Given the description of an element on the screen output the (x, y) to click on. 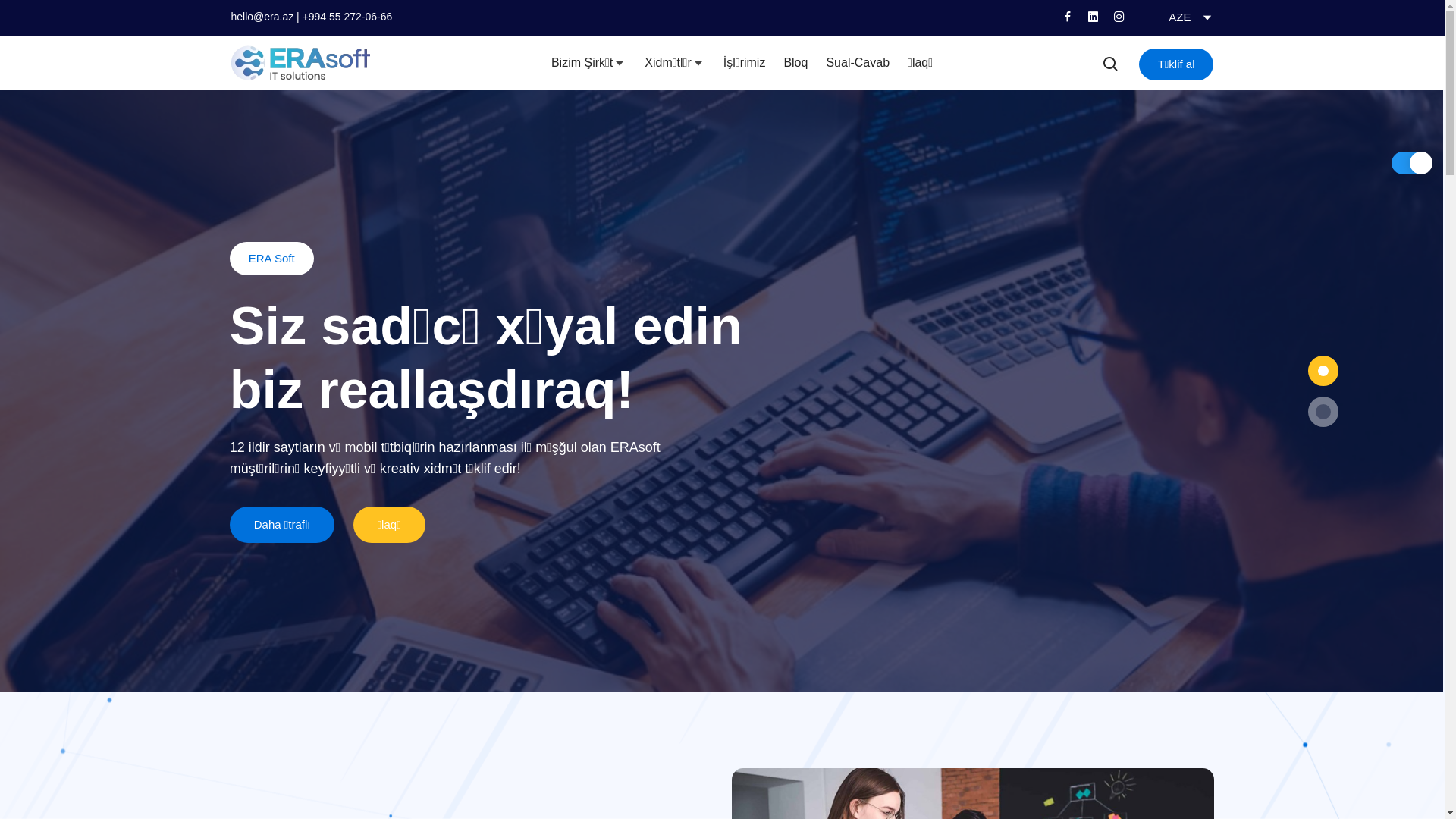
Sual-Cavab Element type: text (857, 62)
+994 55 272-06-66 Element type: text (347, 16)
hello@era.az Element type: text (261, 16)
Bloq Element type: text (795, 62)
